Given the description of an element on the screen output the (x, y) to click on. 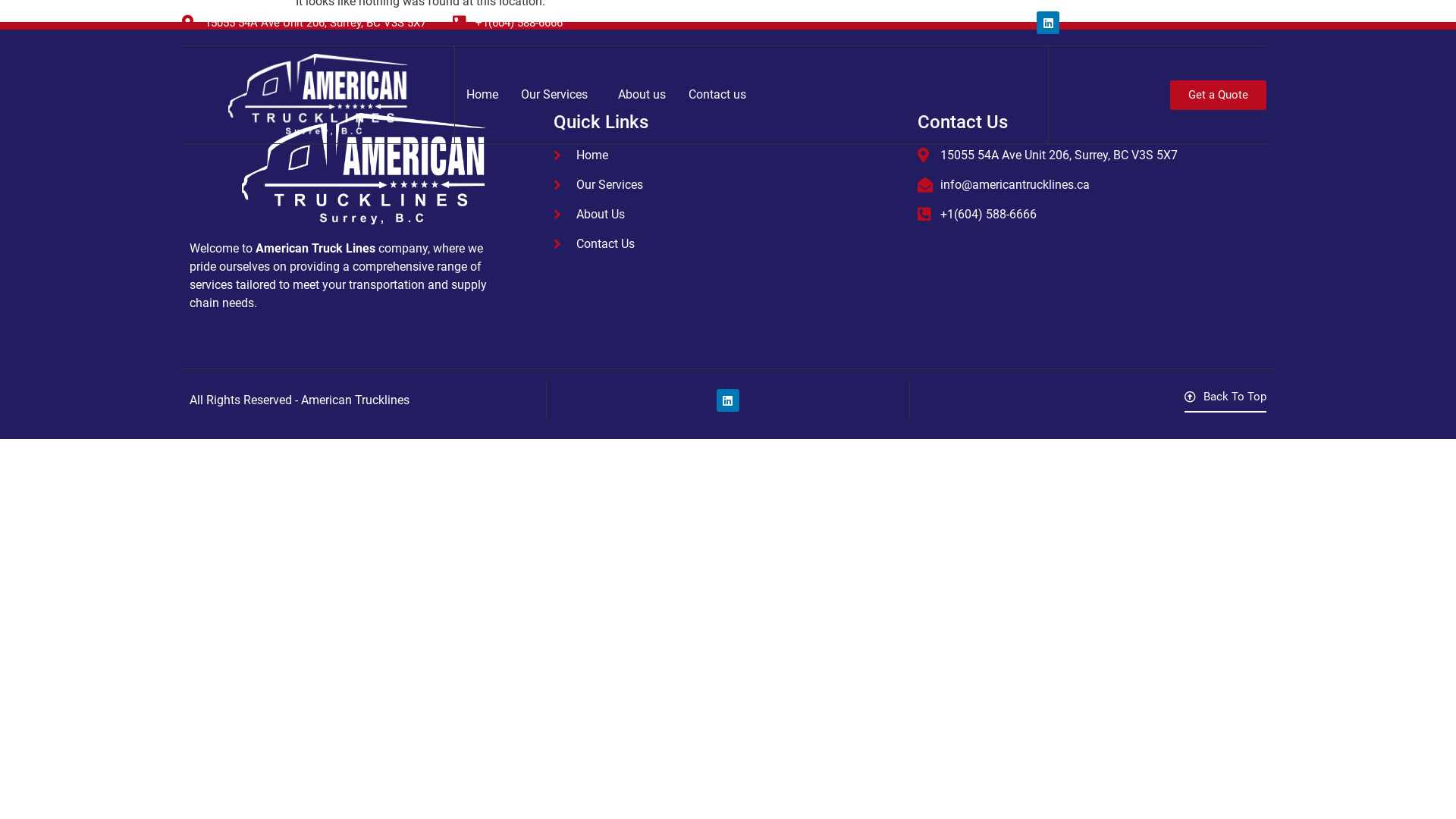
About us Element type: text (641, 94)
15055 54A Ave Unit 206, Surrey, BC V3S 5X7 Element type: text (304, 22)
Contact us Element type: text (717, 94)
Our Services Element type: text (557, 94)
+1(604) 588-6666 Element type: text (1091, 214)
About Us Element type: text (727, 214)
Our Services Element type: text (727, 184)
Get a Quote Element type: text (1218, 94)
All Rights Reserved - American Trucklines Element type: text (299, 399)
15055 54A Ave Unit 206, Surrey, BC V3S 5X7 Element type: text (1091, 155)
info@americantrucklines.ca Element type: text (1091, 184)
Back To Top Element type: text (1225, 401)
Home Element type: text (727, 155)
+1(604) 588-6666 Element type: text (507, 22)
Home Element type: text (482, 94)
Contact Us Element type: text (727, 244)
